Given the description of an element on the screen output the (x, y) to click on. 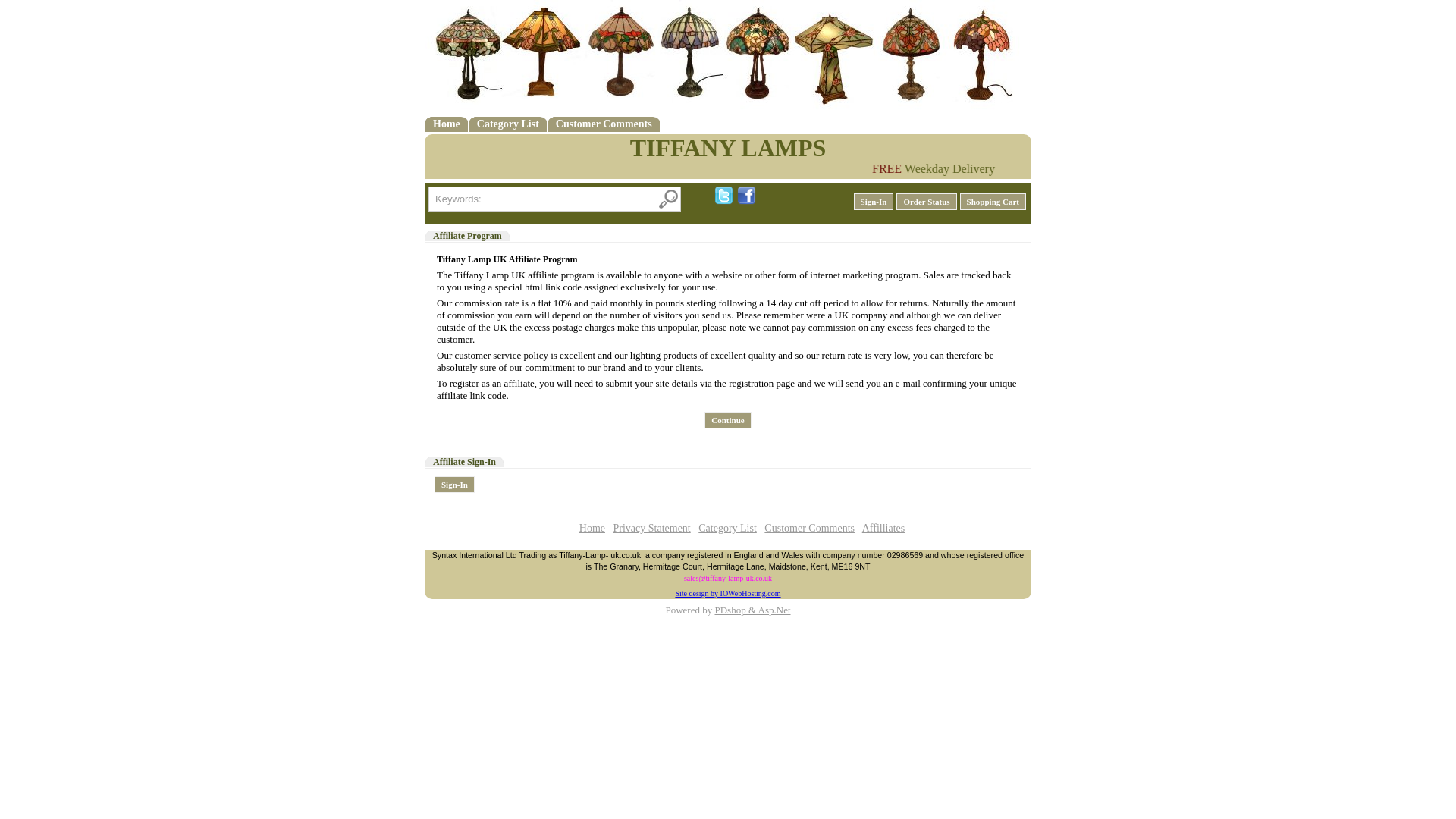
Customer Comments (809, 527)
Home (446, 123)
Sign-In (873, 201)
Continue (727, 419)
Keywords: (554, 198)
Shopping Cart (992, 201)
Keywords: (554, 198)
Category List (727, 527)
Site design by IOWebHosting.com (727, 592)
Customer Comments (604, 123)
Category List (507, 123)
Sign-In (453, 484)
Order Status (926, 201)
Affilliates (883, 527)
Home (592, 527)
